Given the description of an element on the screen output the (x, y) to click on. 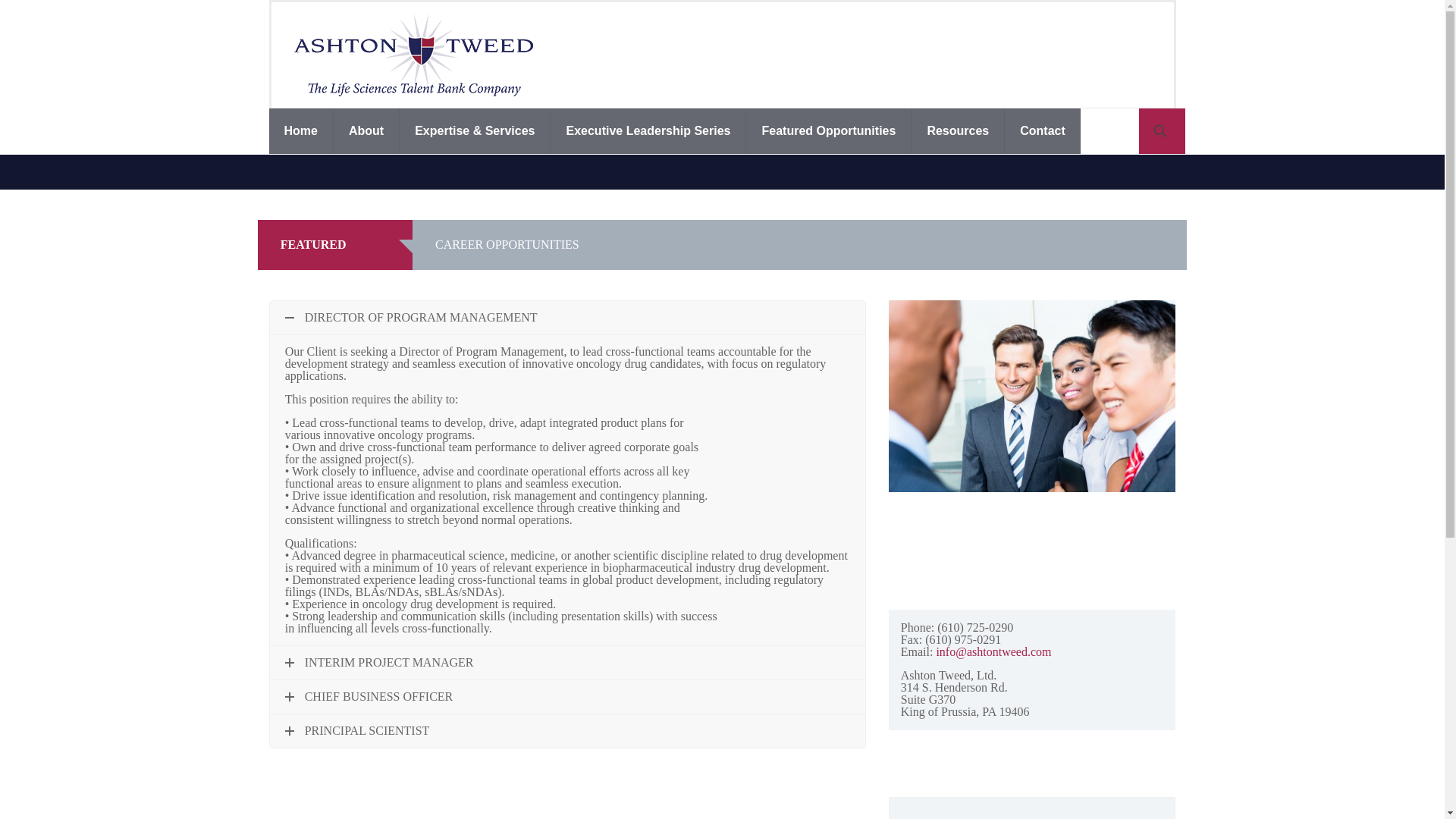
Resources (957, 130)
Executive Leadership Series (647, 130)
Ashton Tweed (413, 54)
business people greeting each other and smiling (1032, 396)
Featured Opportunities (828, 130)
Home (300, 130)
About (365, 130)
